Given the description of an element on the screen output the (x, y) to click on. 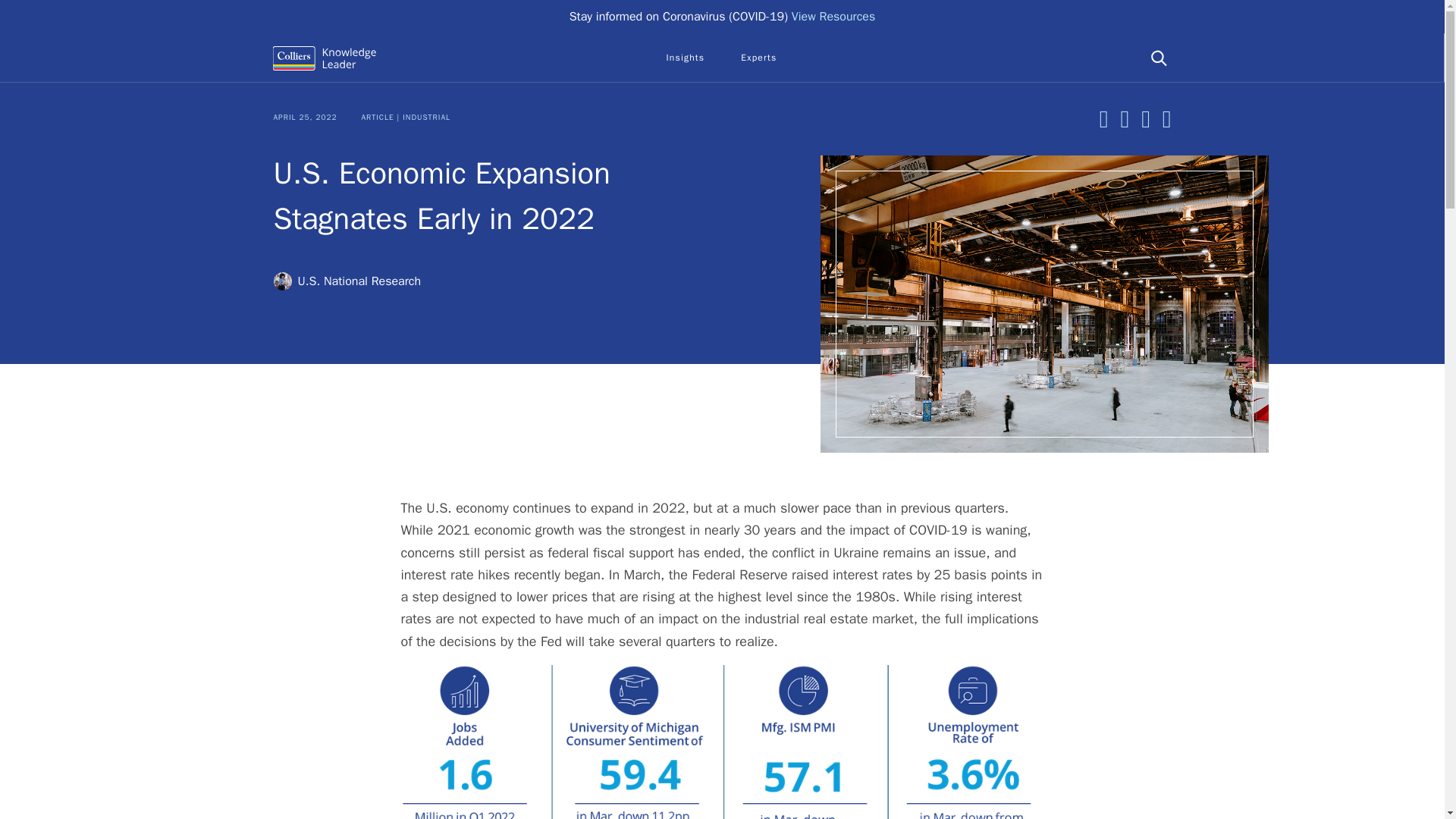
Insights (684, 58)
View Resources (834, 16)
U.S. National Research (346, 280)
INDUSTRIAL (426, 117)
Experts (758, 58)
